Given the description of an element on the screen output the (x, y) to click on. 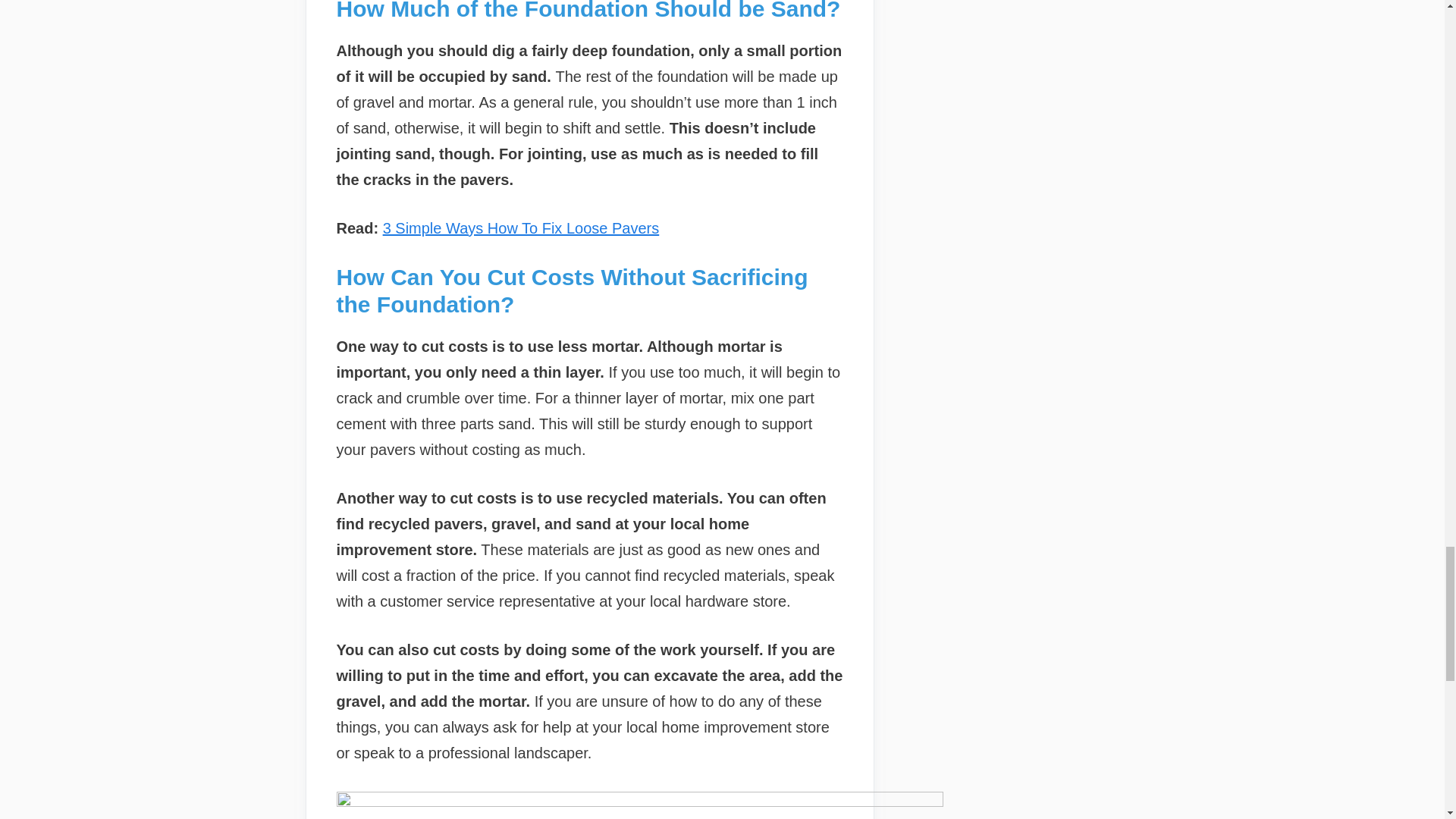
3 Simple Ways How To Fix Loose Pavers (520, 228)
